Given the description of an element on the screen output the (x, y) to click on. 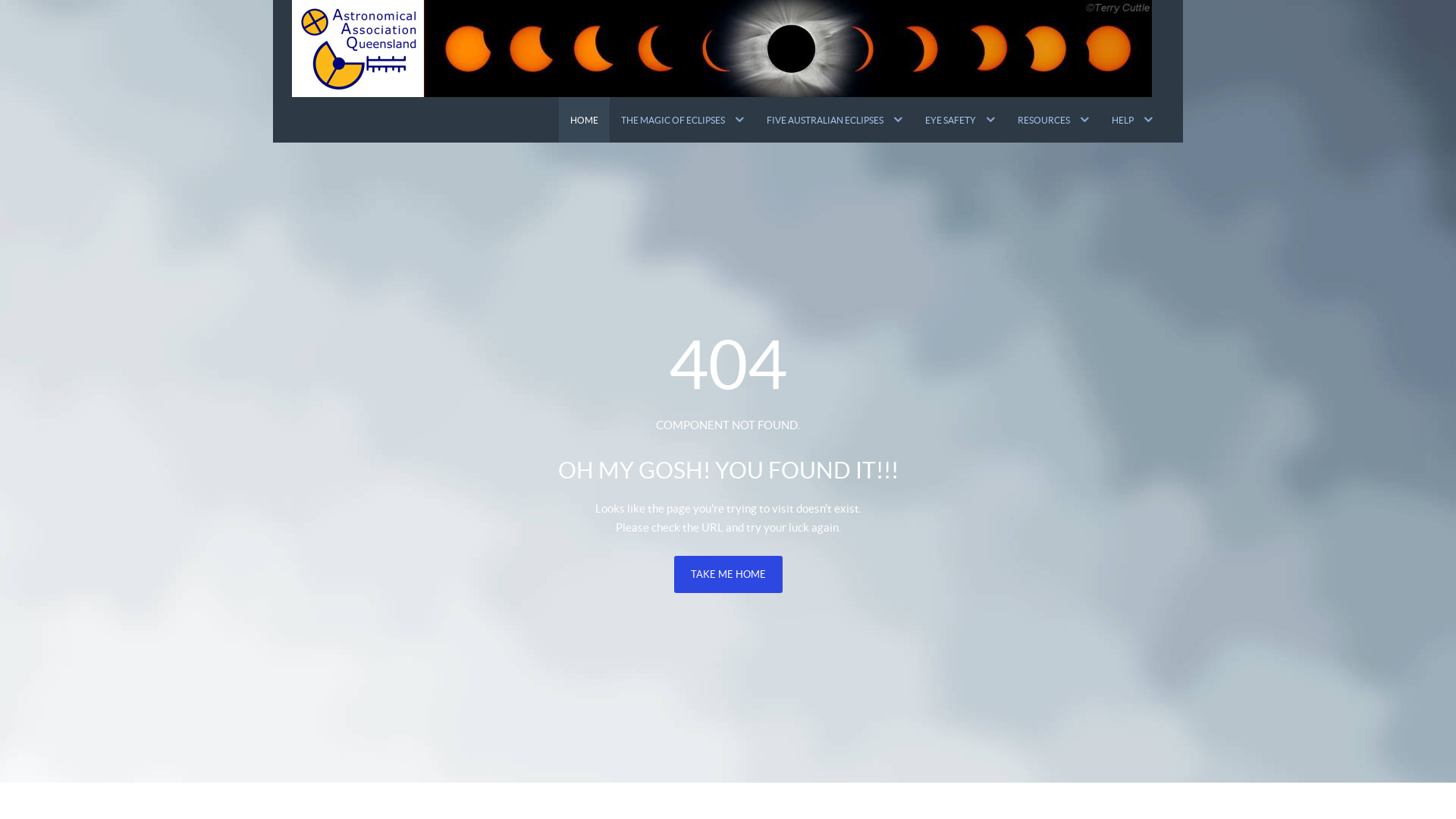
EYE SAFETY Element type: text (959, 119)
THE MAGIC OF ECLIPSES Element type: text (682, 119)
FIVE AUSTRALIAN ECLIPSES Element type: text (834, 119)
TAKE ME HOME Element type: text (727, 574)
HELP Element type: text (1132, 119)
HOME Element type: text (583, 119)
RESOURCES Element type: text (1053, 119)
